Given the description of an element on the screen output the (x, y) to click on. 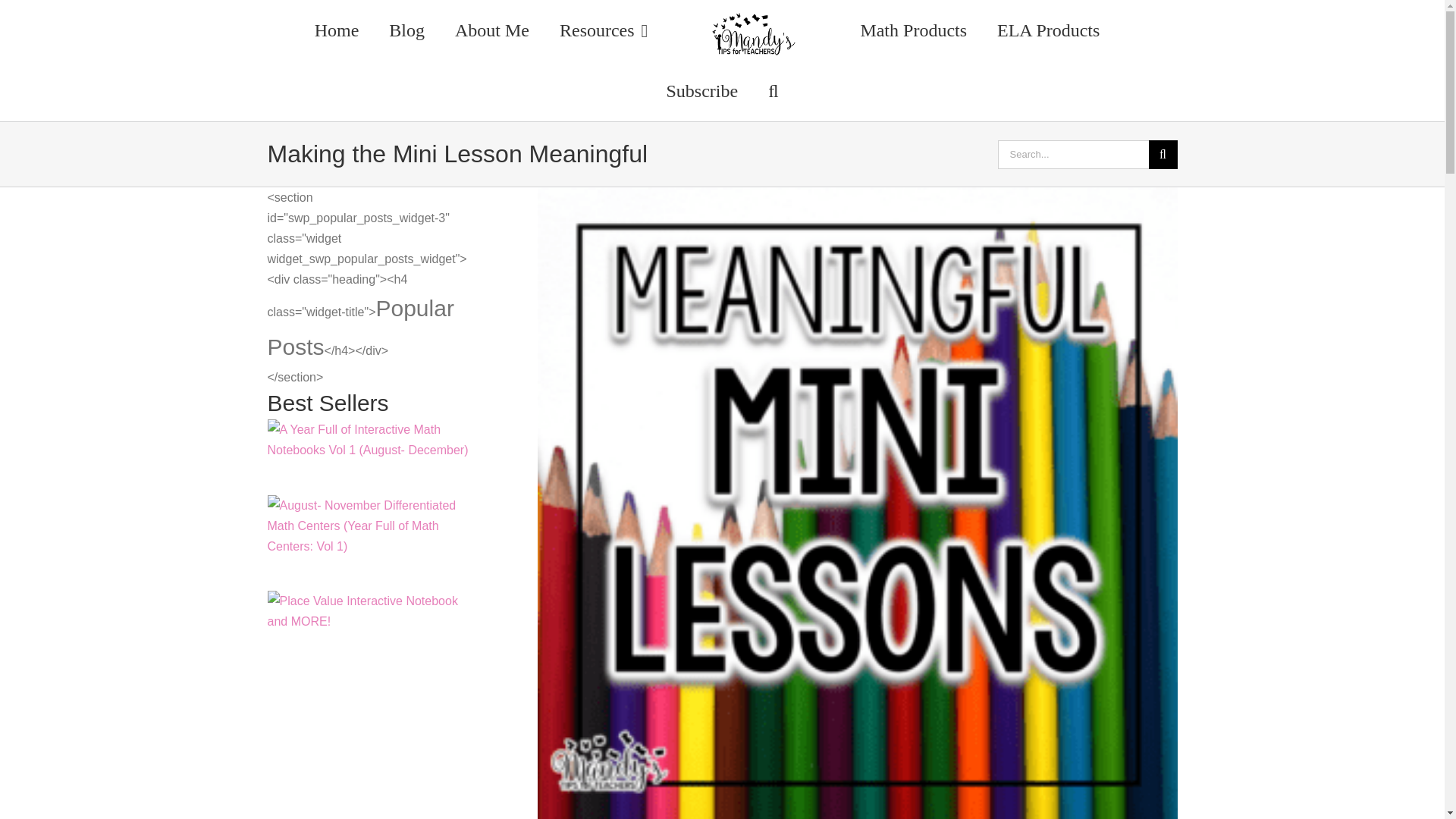
Subscribe (701, 90)
ELA Products (1048, 30)
About Me (491, 30)
Resources (603, 30)
Math Products (913, 30)
